Given the description of an element on the screen output the (x, y) to click on. 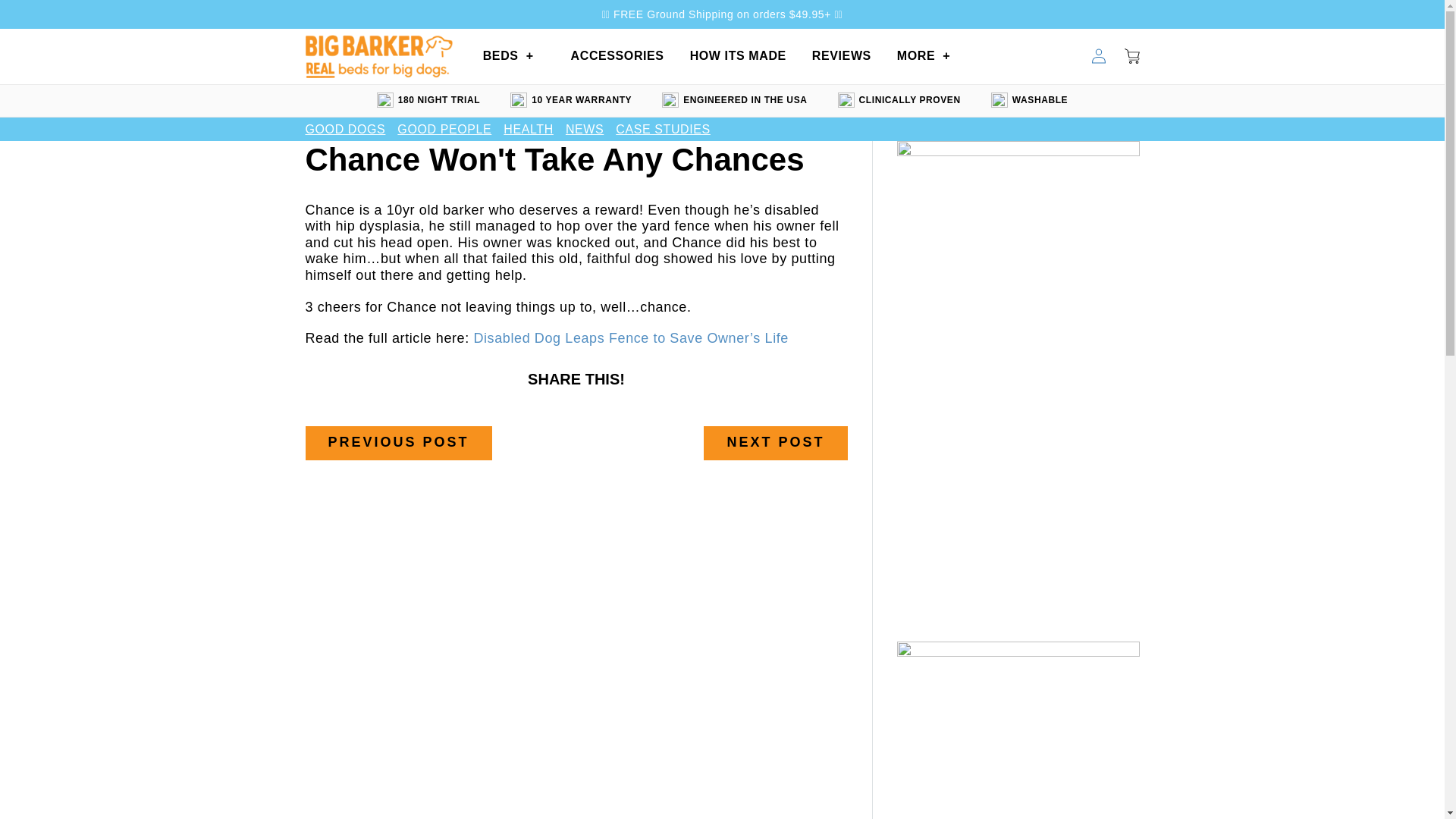
ACCESSORIES (617, 56)
Cart (1131, 55)
GOOD DOGS (344, 128)
HOW ITS MADE (737, 56)
Log in (1098, 55)
REVIEWS (841, 56)
SKIP TO CONTENT (45, 16)
